Given the description of an element on the screen output the (x, y) to click on. 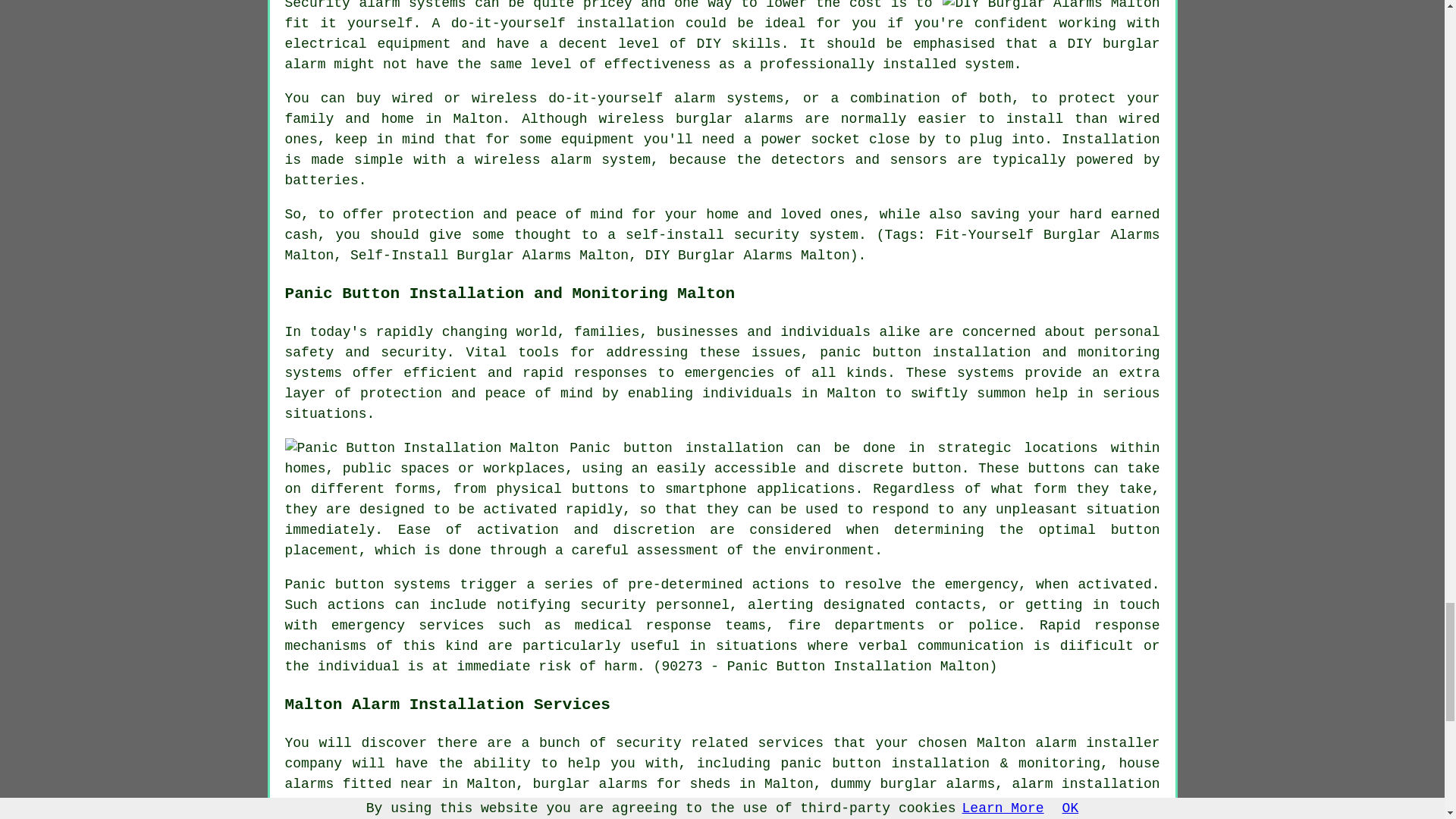
DIY Burglar Alarms Malton (1050, 6)
house alarms fitted near (722, 773)
Panic Button Installation Malton (422, 448)
